Given the description of an element on the screen output the (x, y) to click on. 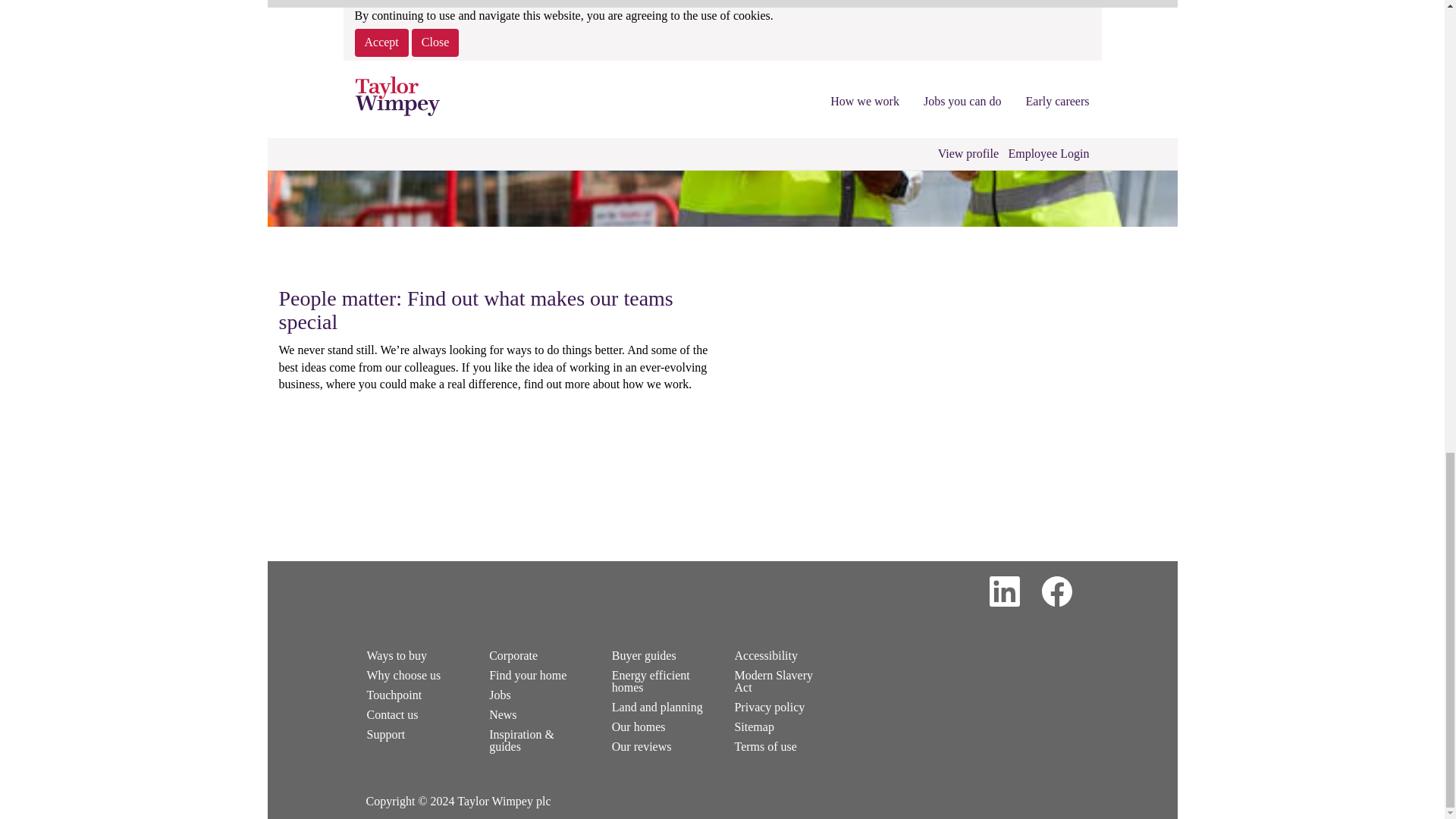
Sign up (481, 109)
Sign up (481, 109)
Ways to buy (415, 655)
Find your home (537, 675)
Support (415, 735)
linkedin (1004, 592)
Buyer guides (661, 655)
facebook (1055, 592)
Ways to buy (415, 655)
Sitemap (782, 726)
Why choose us (415, 675)
Touchpoint (415, 694)
Modern Slavery Act (782, 681)
News (537, 714)
Our homes (661, 726)
